Given the description of an element on the screen output the (x, y) to click on. 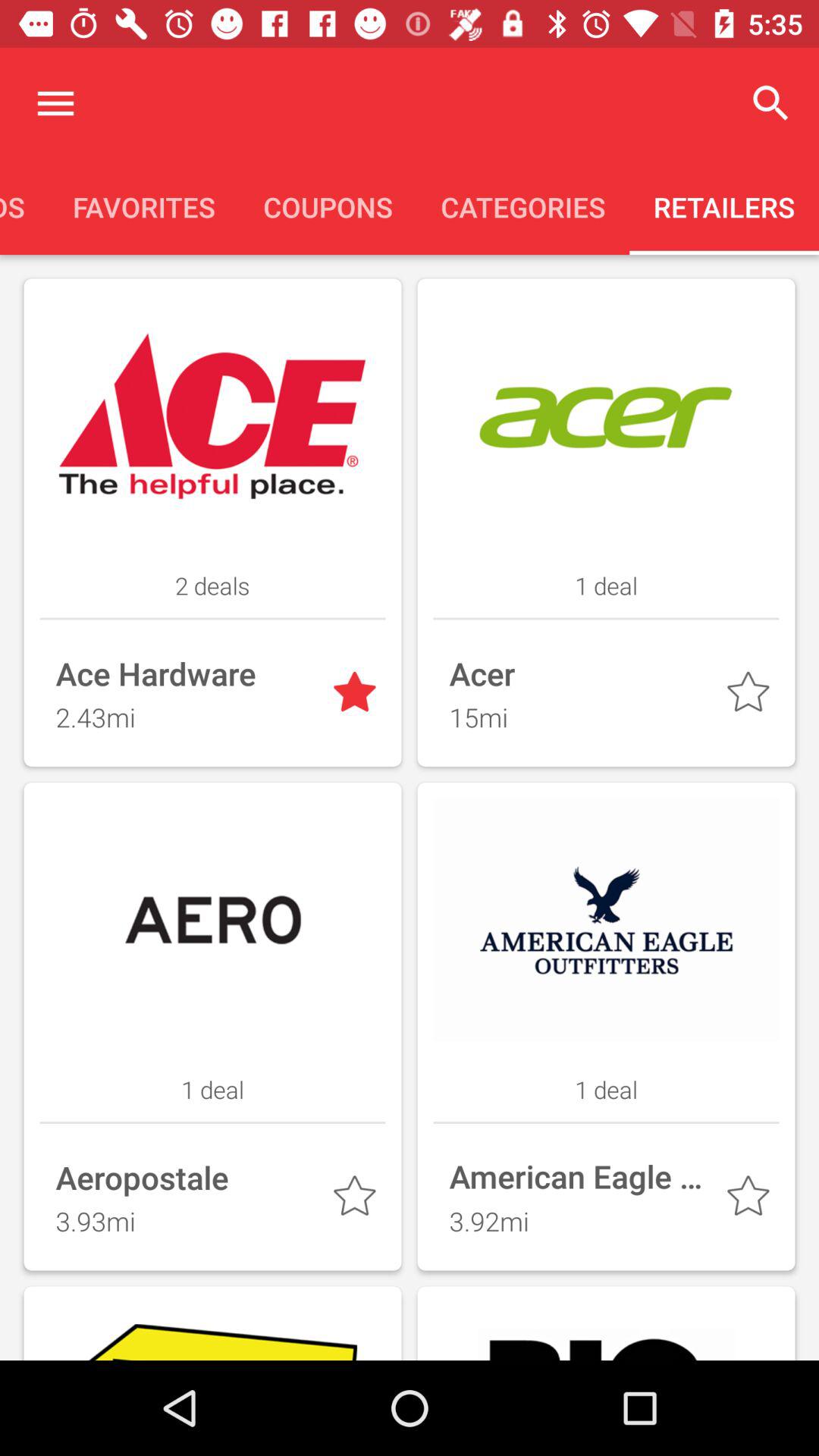
favorite company (751, 1199)
